Given the description of an element on the screen output the (x, y) to click on. 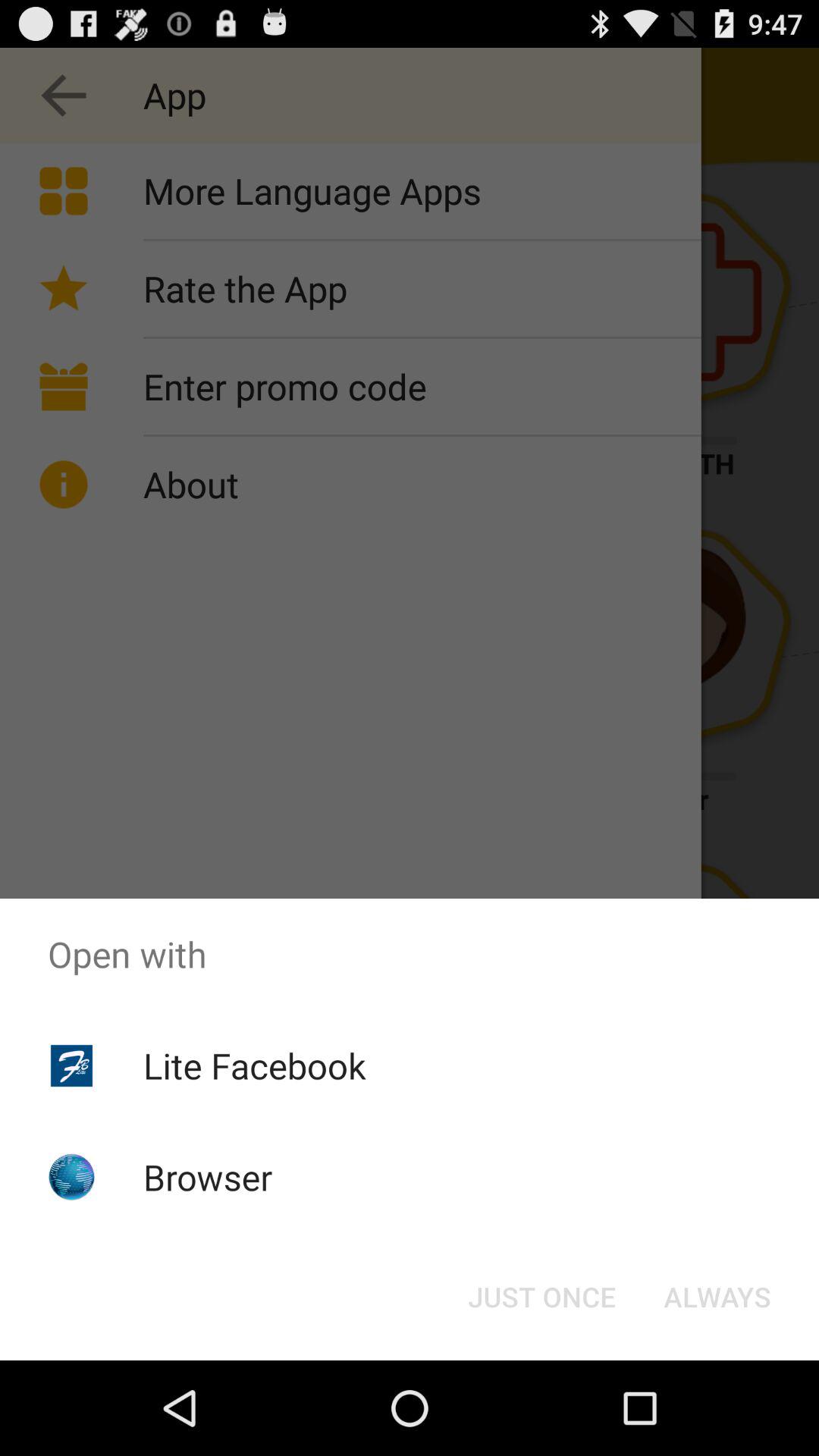
scroll until the just once item (541, 1296)
